Given the description of an element on the screen output the (x, y) to click on. 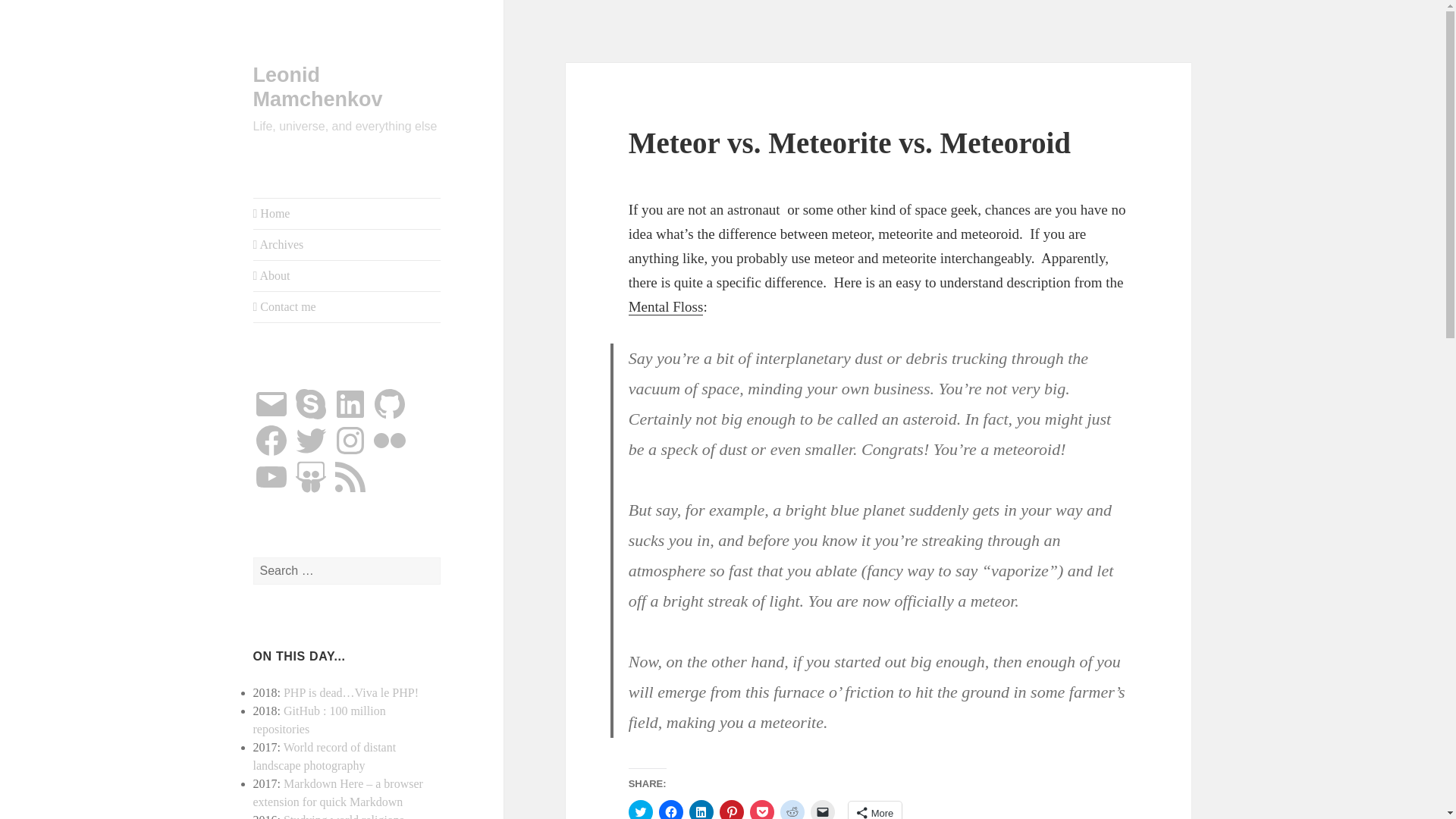
About (347, 276)
Facebook (271, 440)
Click to email a link to a friend (822, 809)
Skype (310, 403)
Home (347, 214)
World record of distant landscape photography (324, 756)
LinkedIn (349, 403)
Click to share on Pinterest (731, 809)
Click to share on Pocket (761, 809)
